Given the description of an element on the screen output the (x, y) to click on. 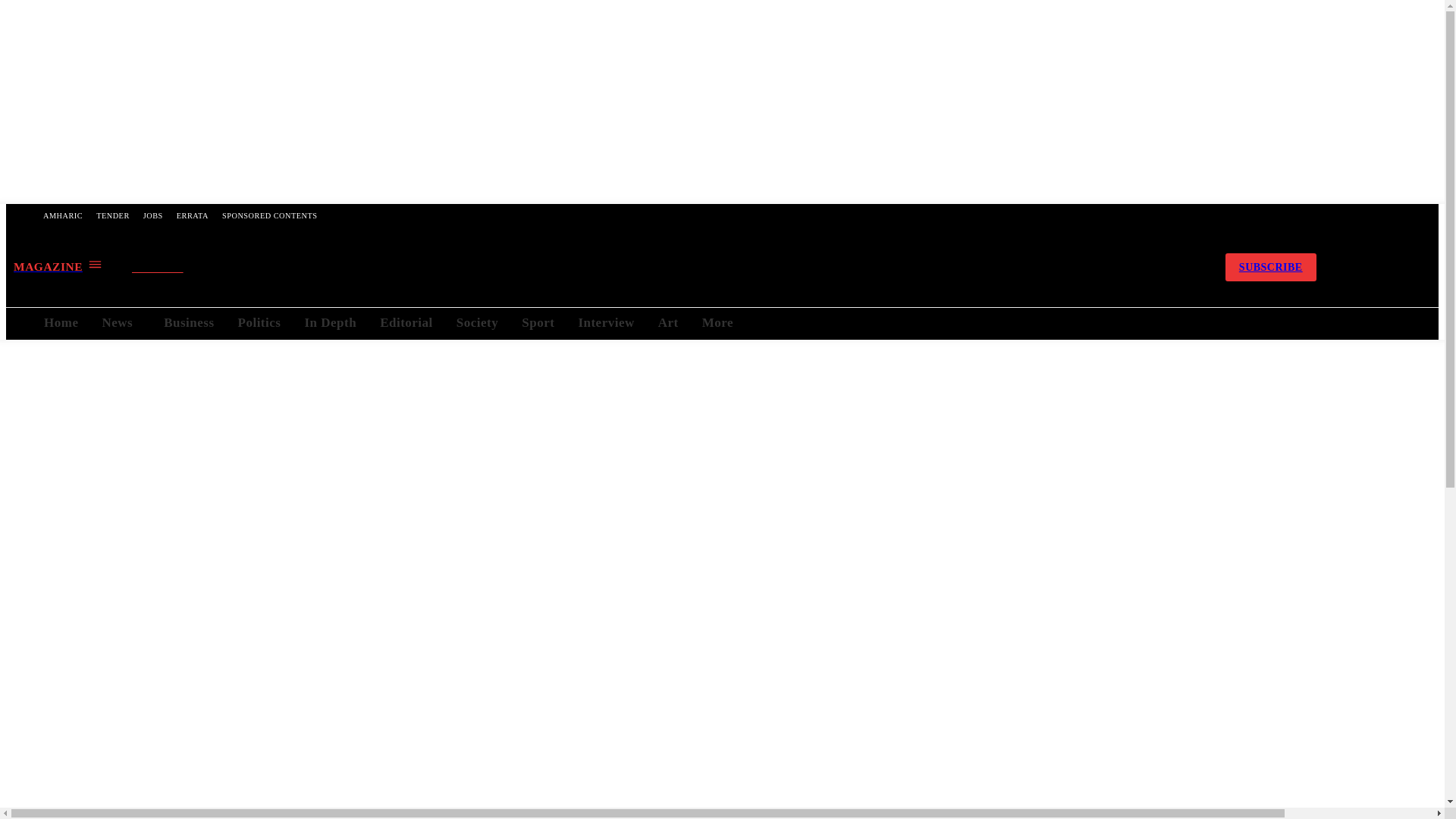
TENDER (112, 216)
The Reporter Ethiopia, Ethiopian News (665, 267)
ERRATA (192, 216)
Telegram (1110, 267)
SEARCH (170, 267)
Facebook (1071, 267)
SPONSORED CONTENTS (269, 216)
AMHARIC (62, 216)
The Reporter Ethiopia, Ethiopian News (664, 267)
Twitter (1151, 267)
